Given the description of an element on the screen output the (x, y) to click on. 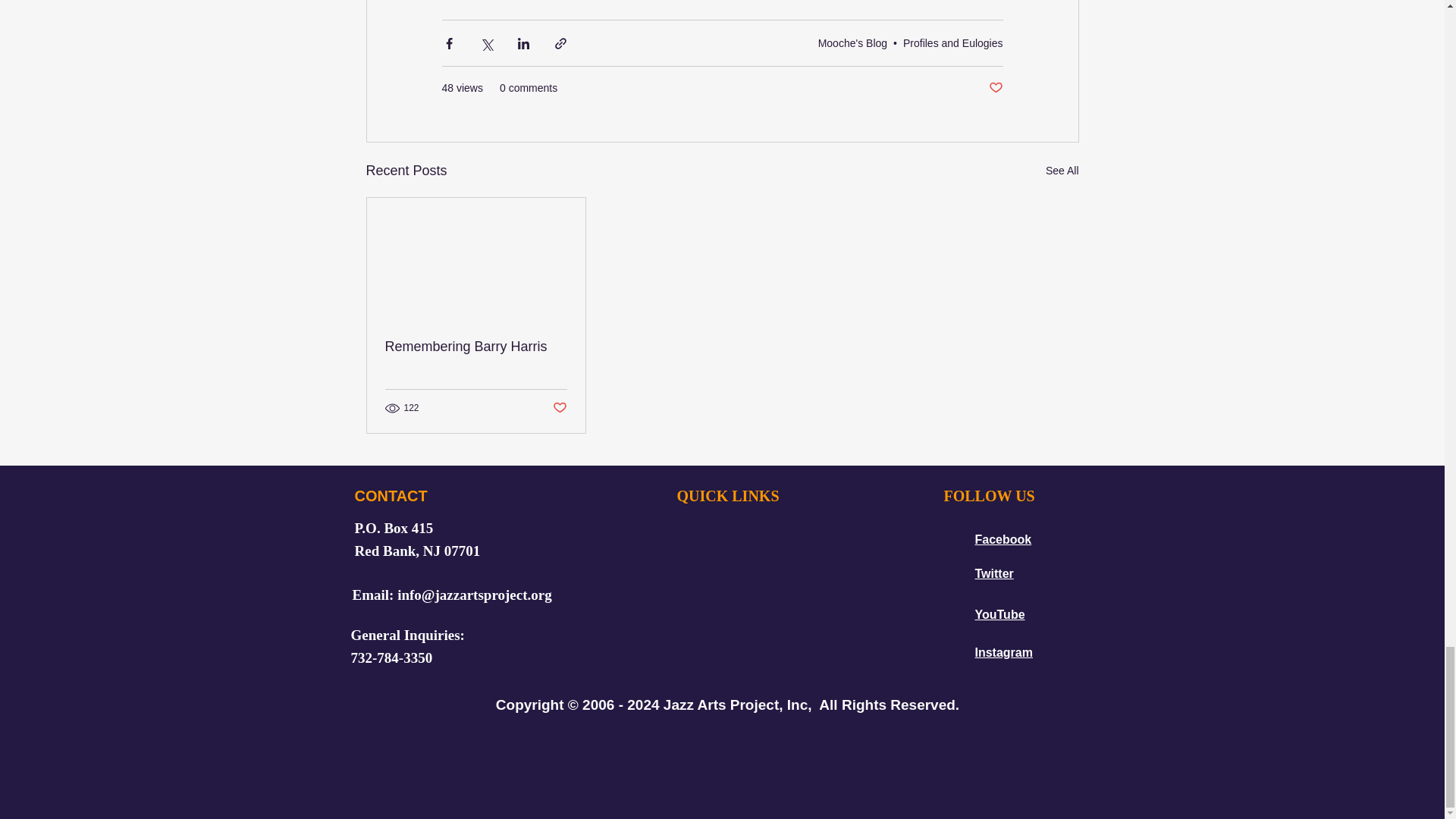
Profiles and Eulogies (952, 42)
Mooche's Blog (852, 42)
Post not marked as liked (995, 88)
See All (1061, 170)
Remembering Barry Harris (476, 346)
